Given the description of an element on the screen output the (x, y) to click on. 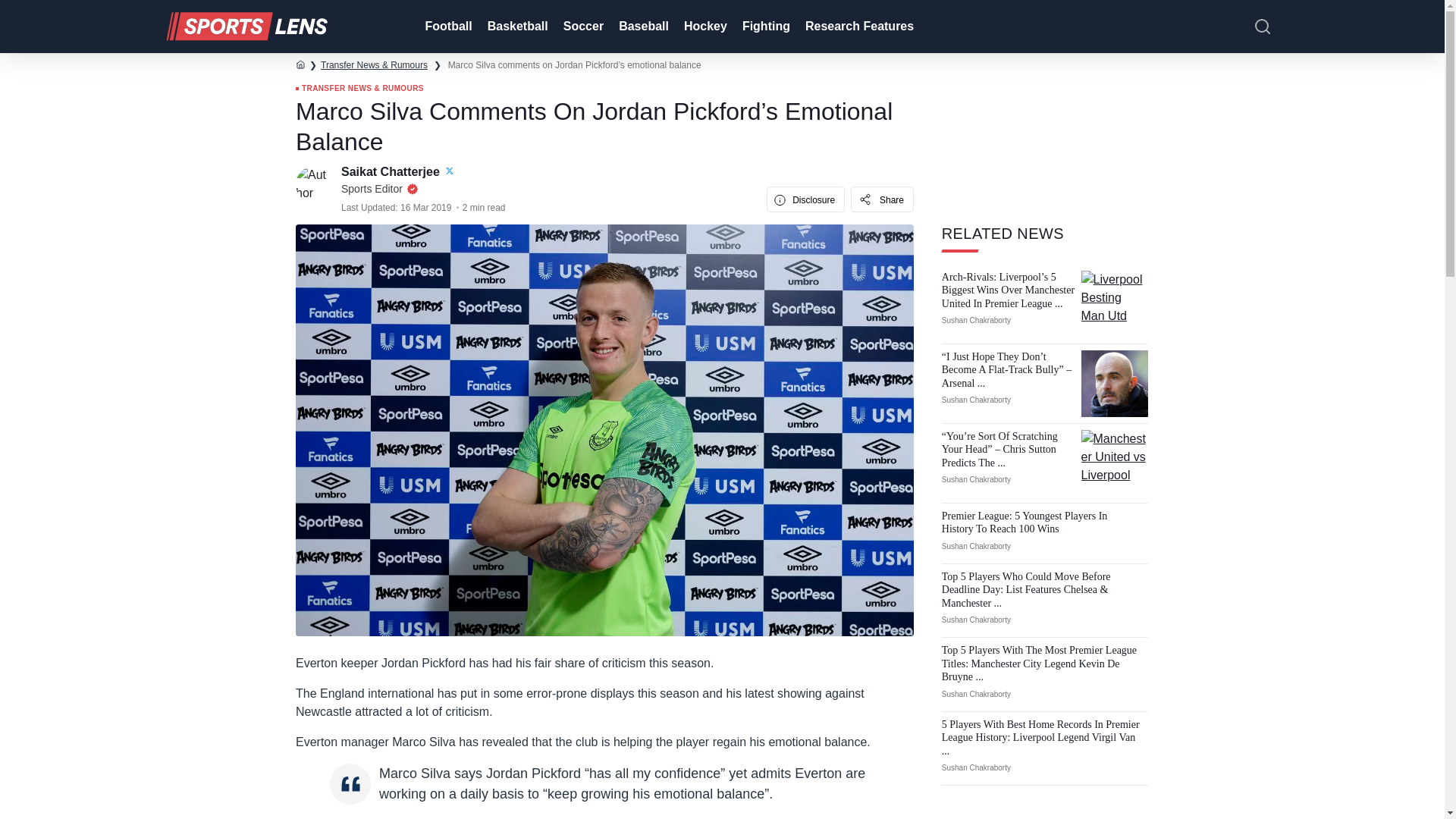
Football (445, 26)
Fighting (764, 26)
Hockey (704, 26)
Baseball (642, 26)
Basketball (516, 26)
Saikat Chatterjee (391, 171)
Sushan Chakraborty (976, 320)
Sushan Chakraborty (976, 399)
Share (882, 199)
Research Features (858, 26)
